Given the description of an element on the screen output the (x, y) to click on. 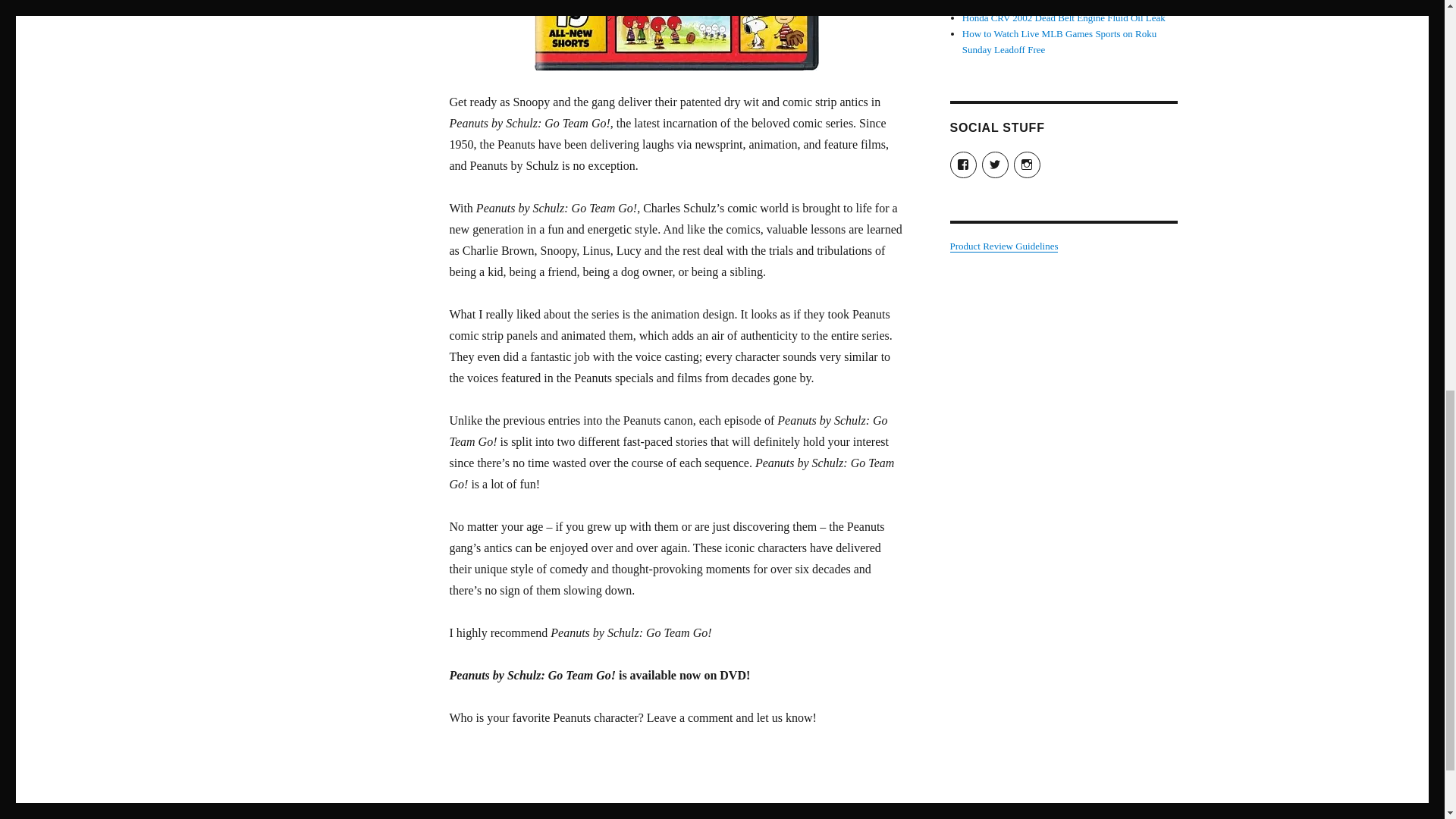
Product Review Guidelines (1003, 245)
Honda CRV 2002 Dead Belt Engine Fluid Oil Leak (1064, 17)
